Given the description of an element on the screen output the (x, y) to click on. 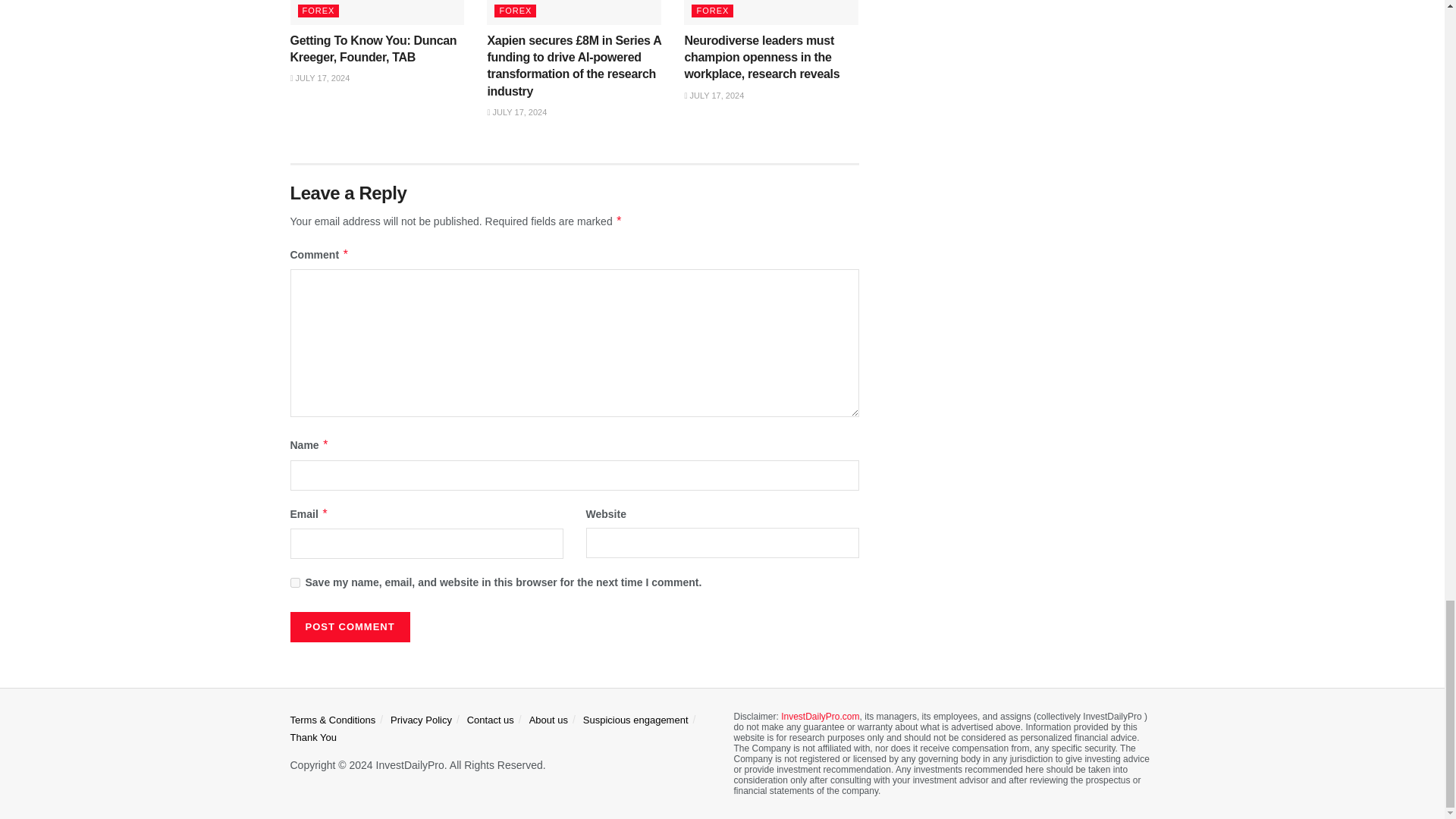
yes (294, 583)
Post Comment (349, 626)
